Given the description of an element on the screen output the (x, y) to click on. 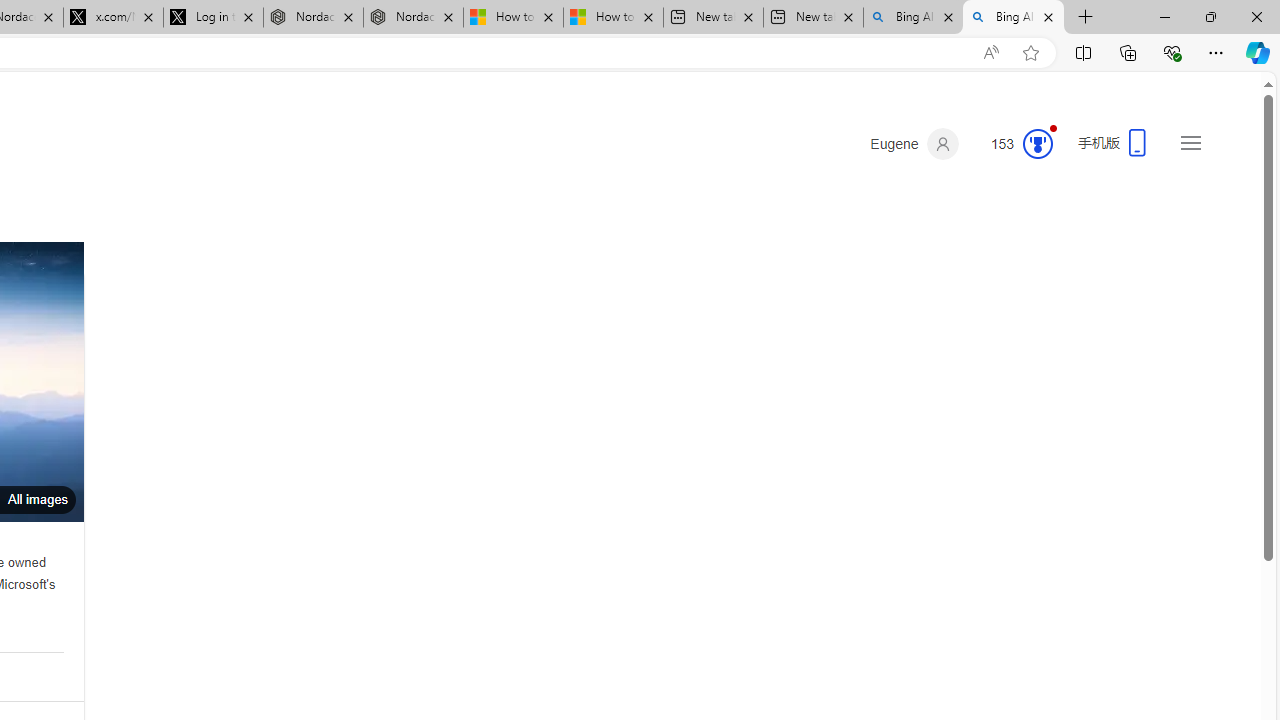
Microsoft Rewards 153 (1014, 143)
How to Use a Monitor With Your Closed Laptop (613, 17)
x.com/NordaceOfficial (113, 17)
Eugene (914, 143)
